Given the description of an element on the screen output the (x, y) to click on. 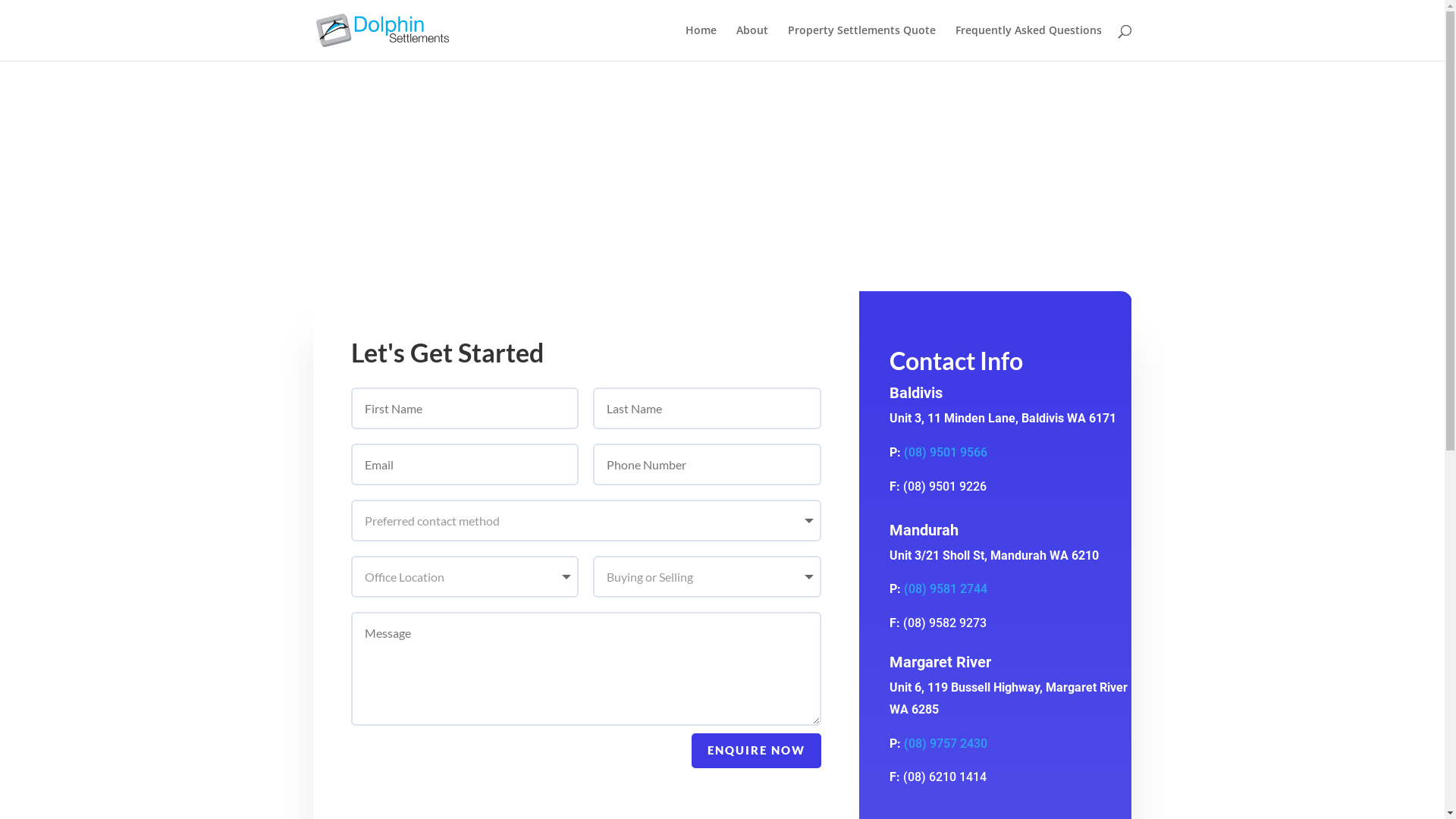
(08) 9757 2430 Element type: text (945, 743)
Home Element type: text (700, 42)
ENQUIRE NOW Element type: text (756, 750)
(08) 9501 9566 Element type: text (945, 452)
Frequently Asked Questions Element type: text (1028, 42)
About Element type: text (751, 42)
Property Settlements Quote Element type: text (861, 42)
(08) 9581 2744 Element type: text (945, 588)
